Given the description of an element on the screen output the (x, y) to click on. 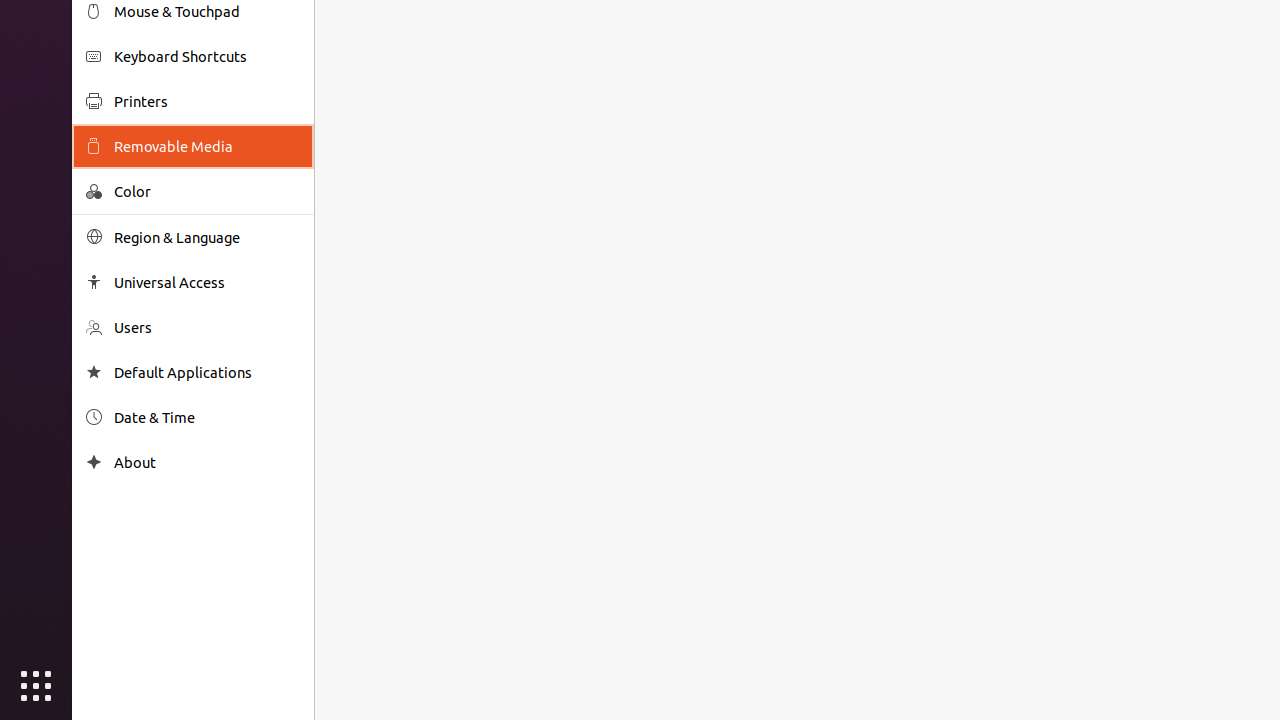
Universal Access Element type: label (207, 282)
Date & Time Element type: label (207, 417)
